Given the description of an element on the screen output the (x, y) to click on. 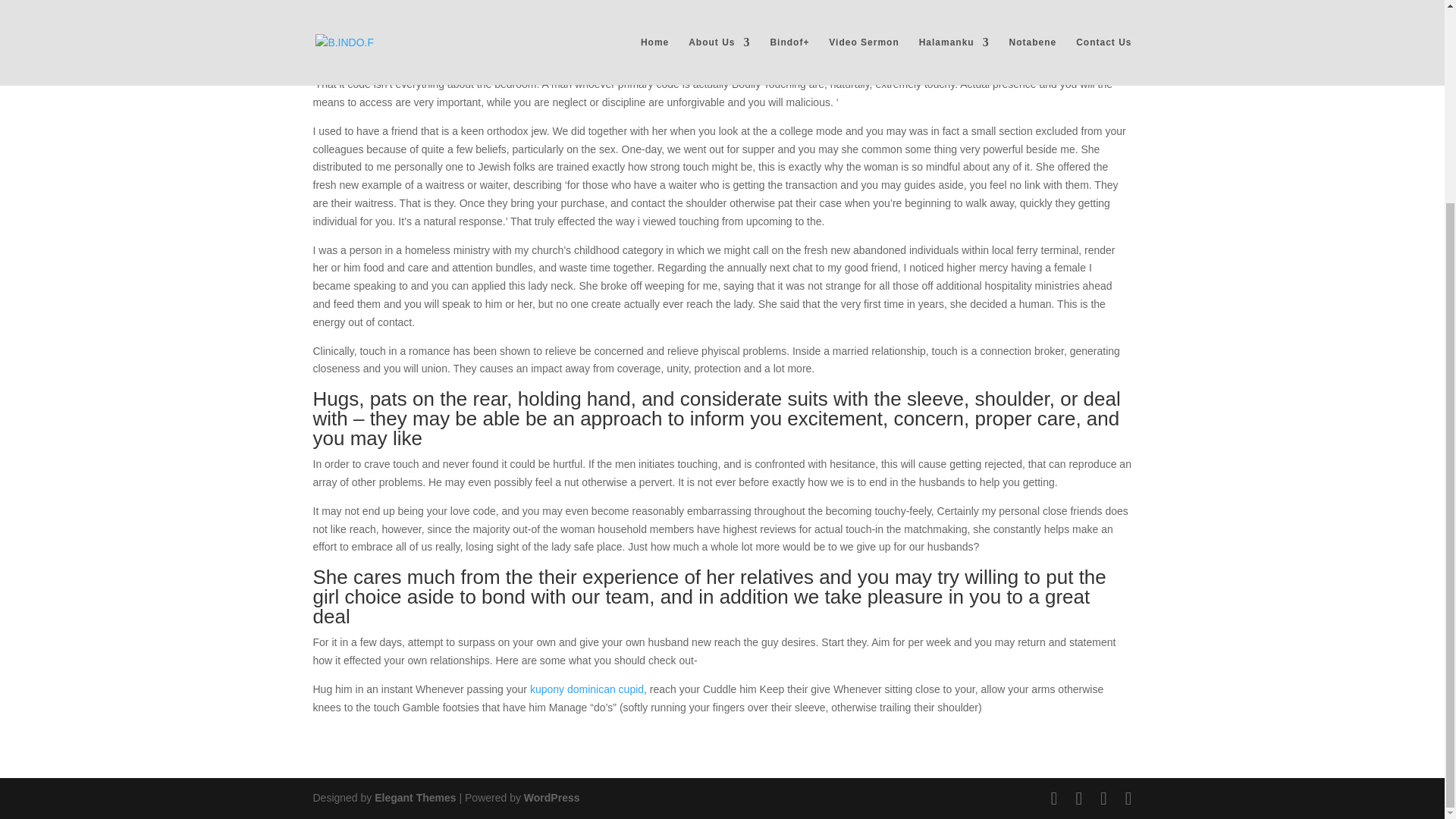
kupony dominican cupid (586, 689)
WordPress (551, 797)
Premium WordPress Themes (414, 797)
Elegant Themes (414, 797)
